Given the description of an element on the screen output the (x, y) to click on. 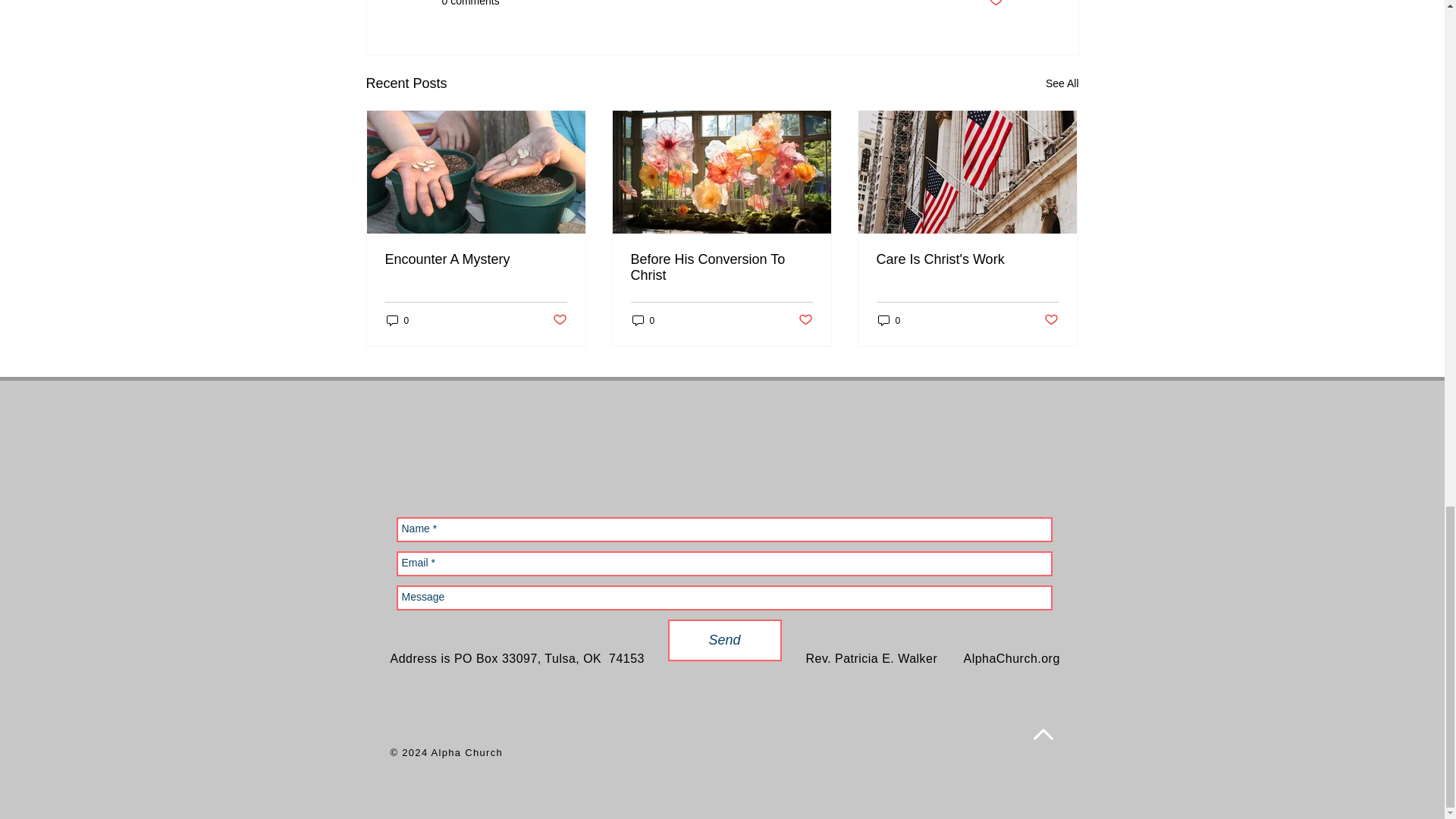
Post not marked as liked (995, 4)
See All (1061, 83)
